Given the description of an element on the screen output the (x, y) to click on. 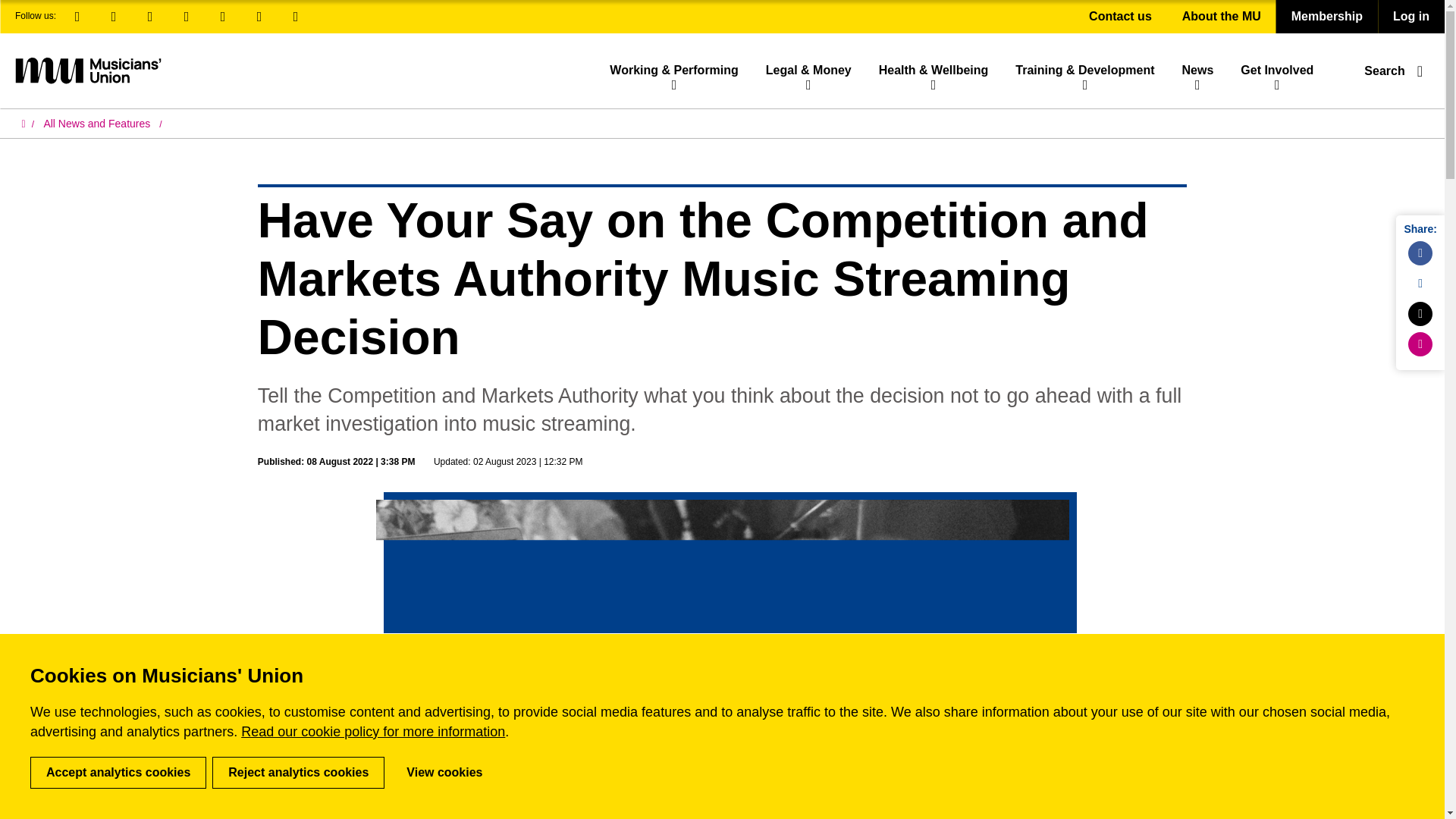
Spotify (223, 16)
X (150, 16)
Home (27, 123)
Read our cookie policy for more information (373, 731)
Accept analytics cookies (118, 772)
Get Involved (1276, 69)
All News and Features (102, 123)
Reject analytics cookies (298, 772)
Share via email (1419, 344)
View cookies (443, 772)
